Given the description of an element on the screen output the (x, y) to click on. 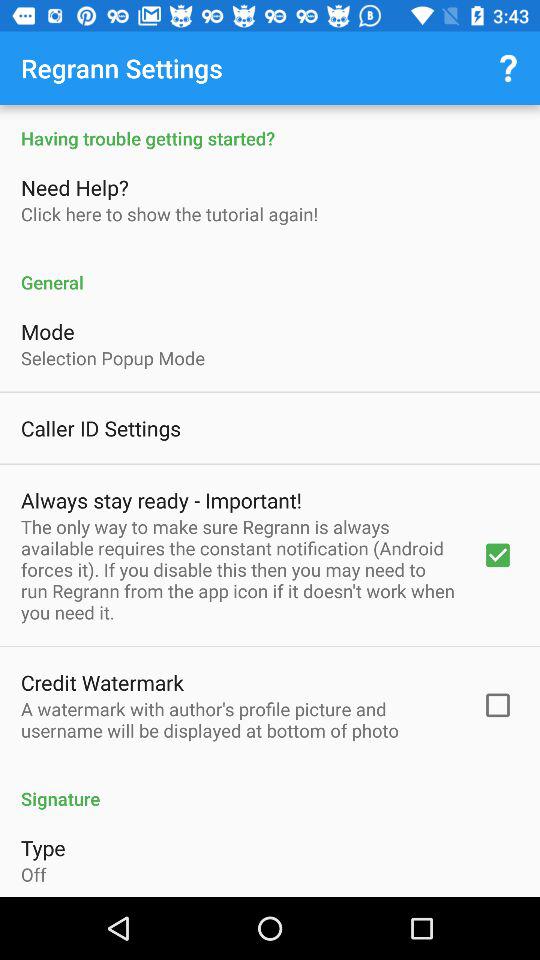
turn off the icon above the mode icon (270, 271)
